Given the description of an element on the screen output the (x, y) to click on. 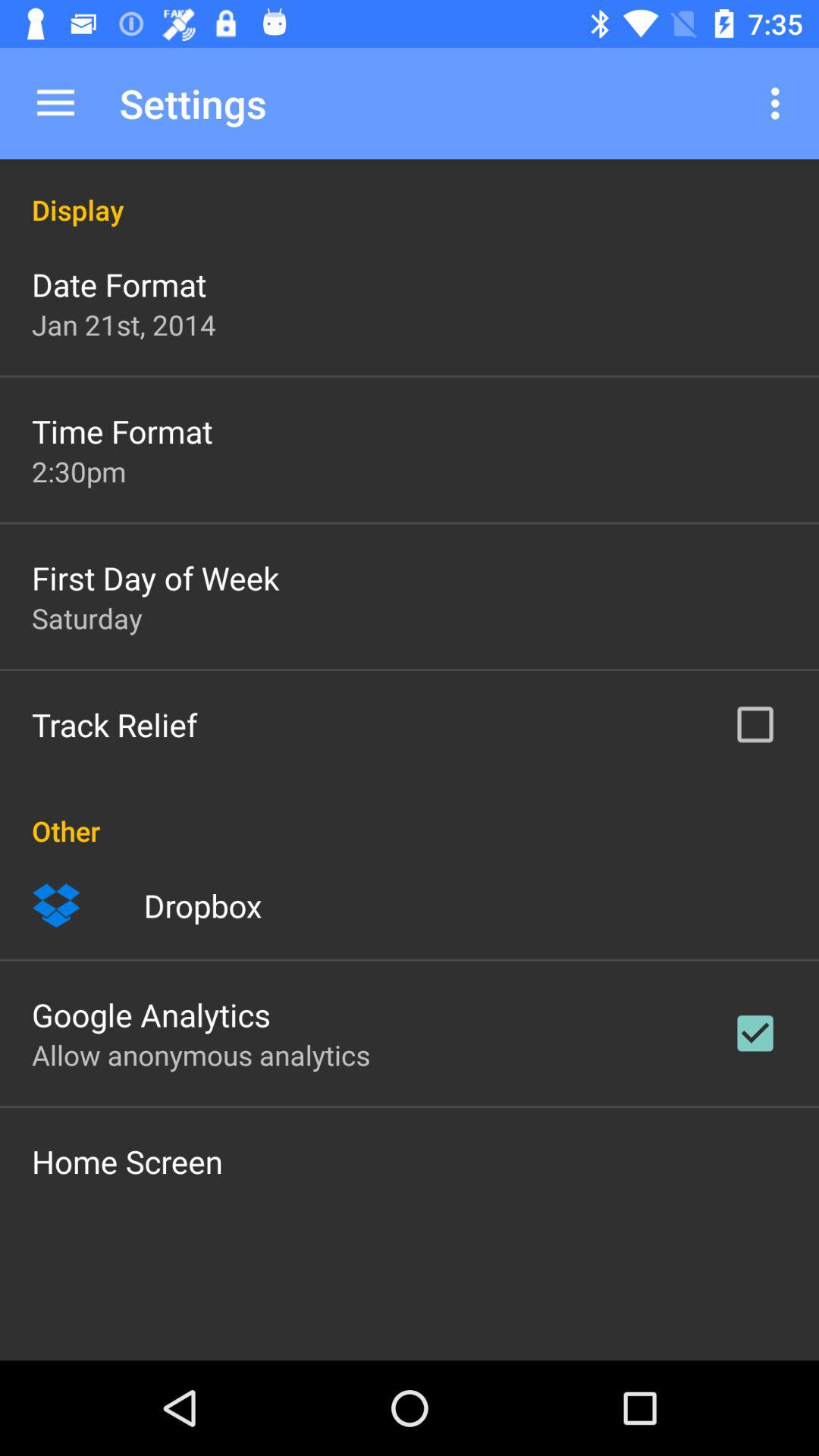
launch the icon to the left of the settings item (55, 103)
